Given the description of an element on the screen output the (x, y) to click on. 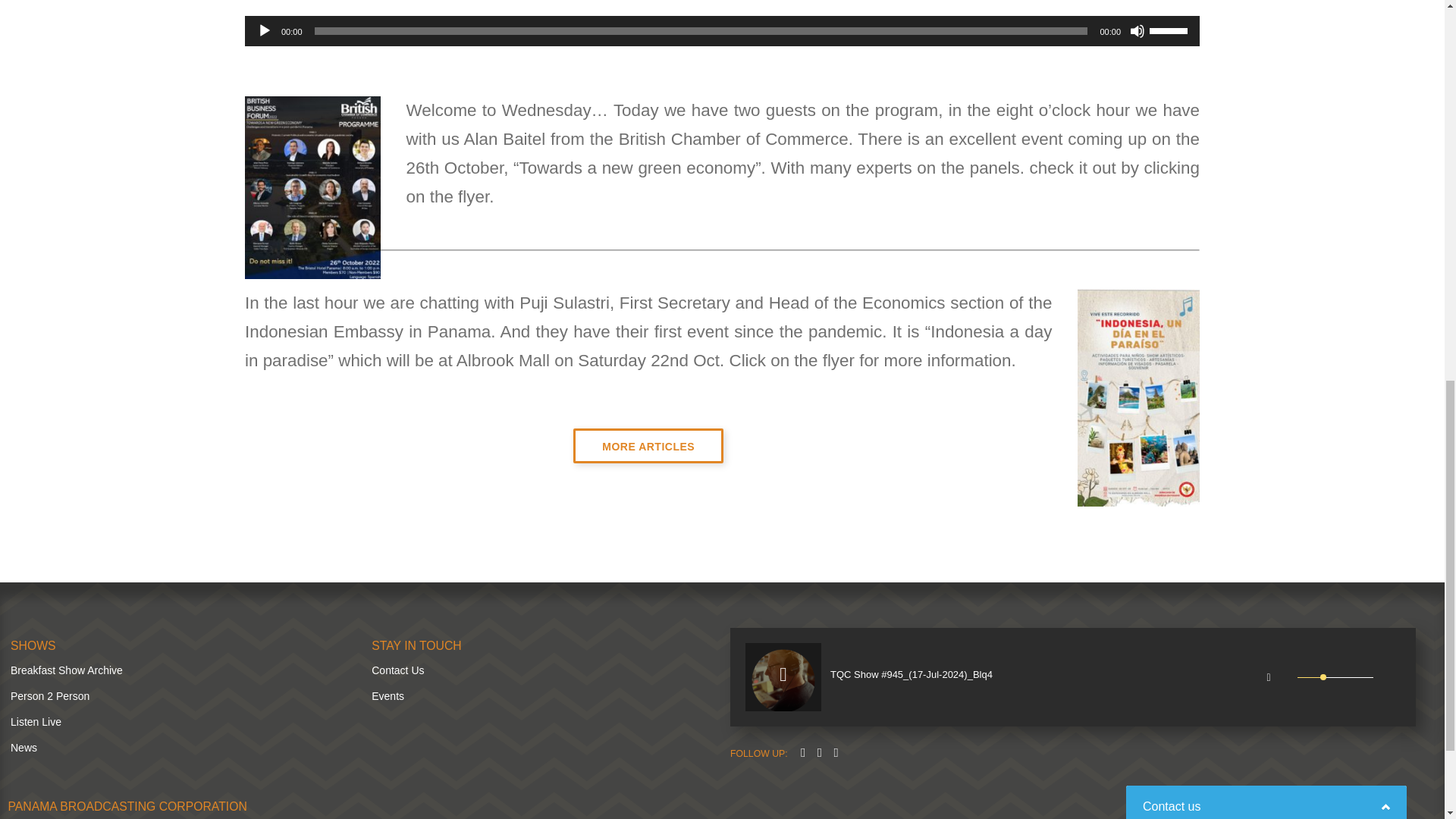
Contact Us (397, 670)
Events (387, 695)
Mute (1136, 30)
News (23, 747)
Play (264, 30)
Breakfast Show Archive (66, 670)
Person 2 Person (49, 695)
Listen Live (35, 721)
MORE ARTICLES (648, 445)
